Given the description of an element on the screen output the (x, y) to click on. 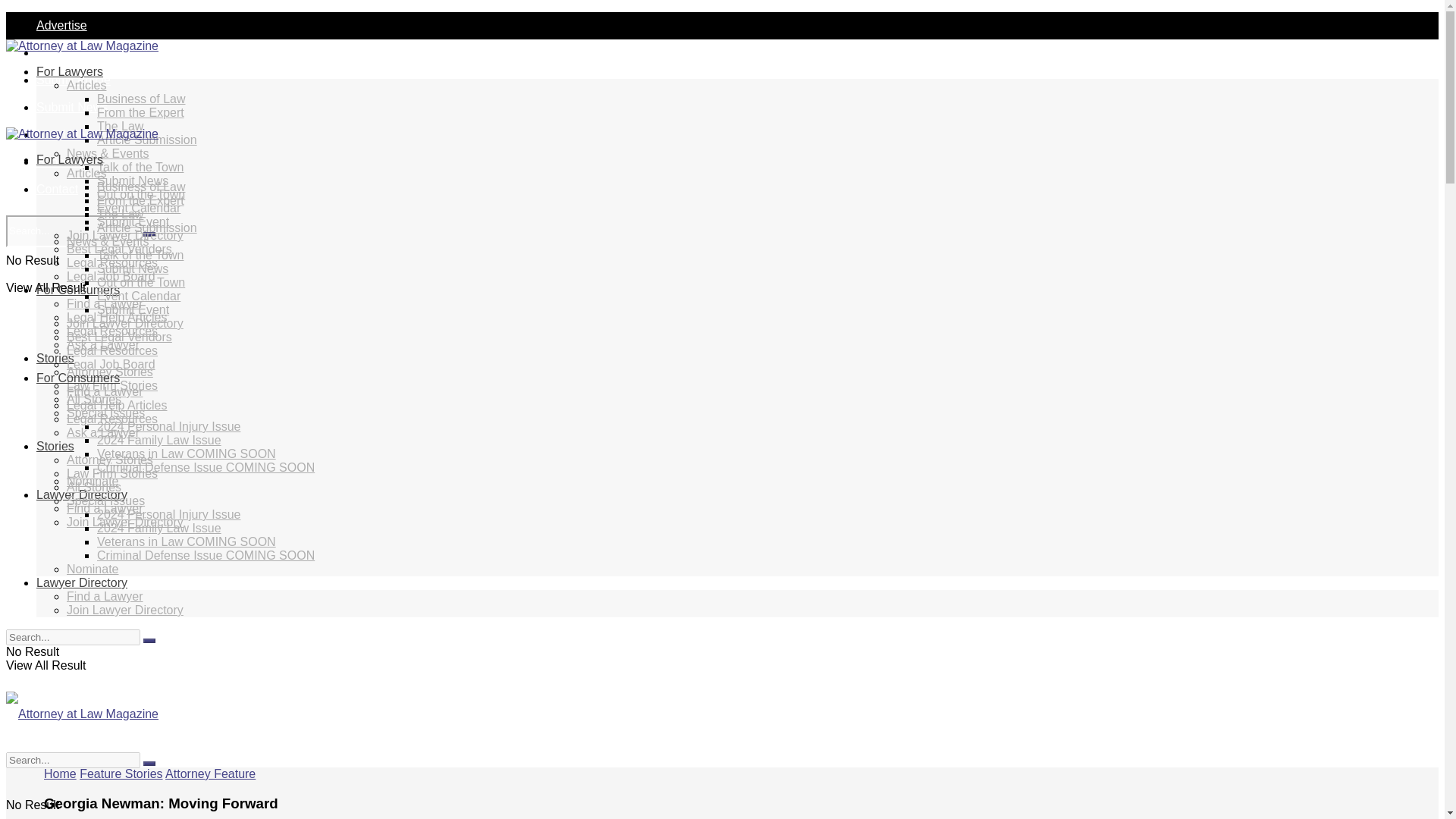
Articles (86, 84)
Submit News (132, 180)
Submit Event (132, 221)
Legal Resources (111, 262)
Legal Resources (111, 330)
From the Expert (140, 112)
Join Lawyer Directory (124, 235)
Event Calendar (138, 207)
Submit Article (73, 79)
Legal Job Board (110, 276)
